Given the description of an element on the screen output the (x, y) to click on. 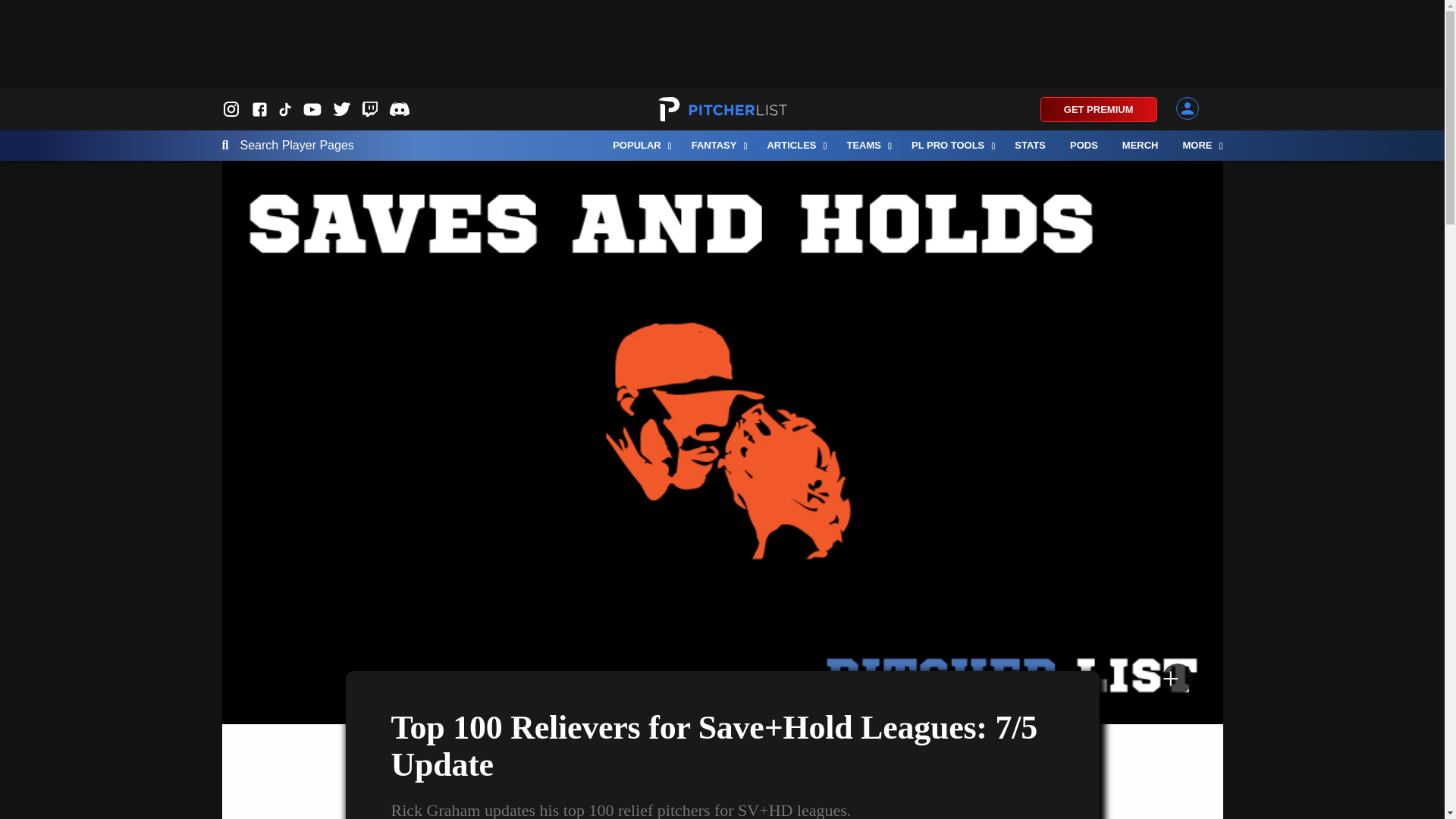
FANTASY (717, 145)
GET PREMIUM (1099, 109)
